Given the description of an element on the screen output the (x, y) to click on. 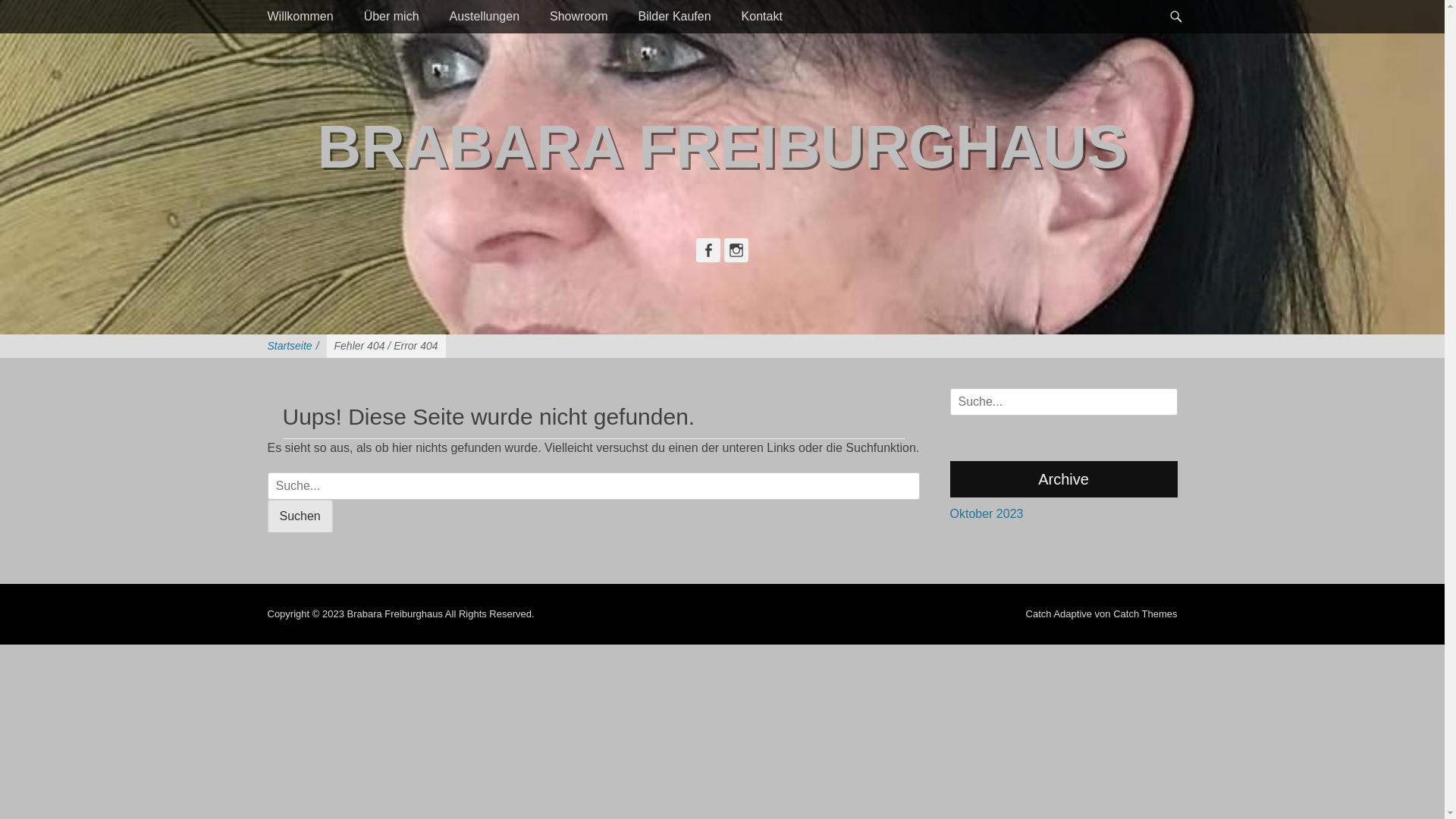
Facebook Element type: text (708, 250)
Catch Themes Element type: text (1144, 613)
Suchen Element type: text (32, 16)
Showroom Element type: text (578, 16)
Austellungen Element type: text (484, 16)
Instagram Element type: text (736, 250)
Willkommen Element type: text (299, 16)
Startseite
/ Element type: text (292, 345)
Bilder Kaufen Element type: text (674, 16)
BRABARA FREIBURGHAUS Element type: text (721, 146)
Suchen Element type: text (299, 516)
Kontakt Element type: text (761, 16)
Oktober 2023 Element type: text (985, 513)
Brabara Freiburghaus Element type: text (394, 613)
